Given the description of an element on the screen output the (x, y) to click on. 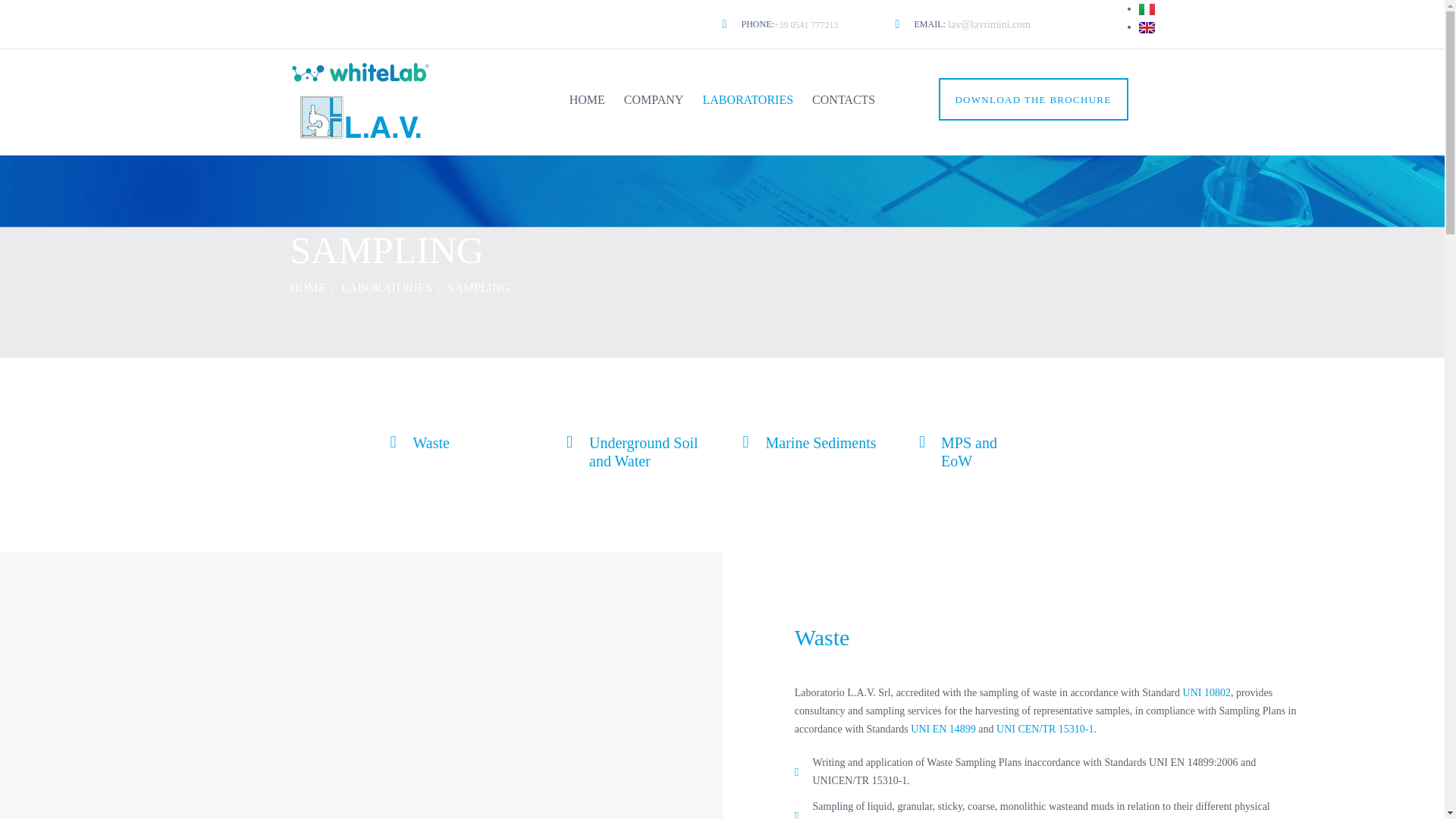
LABORATORIES (747, 100)
HOME (587, 100)
Waste (430, 442)
Marine Sediments (820, 442)
CONTACTS (843, 100)
COMPANY (654, 100)
EMAIL: (919, 24)
PHONE: (968, 451)
LABORATORIES (747, 24)
